Given the description of an element on the screen output the (x, y) to click on. 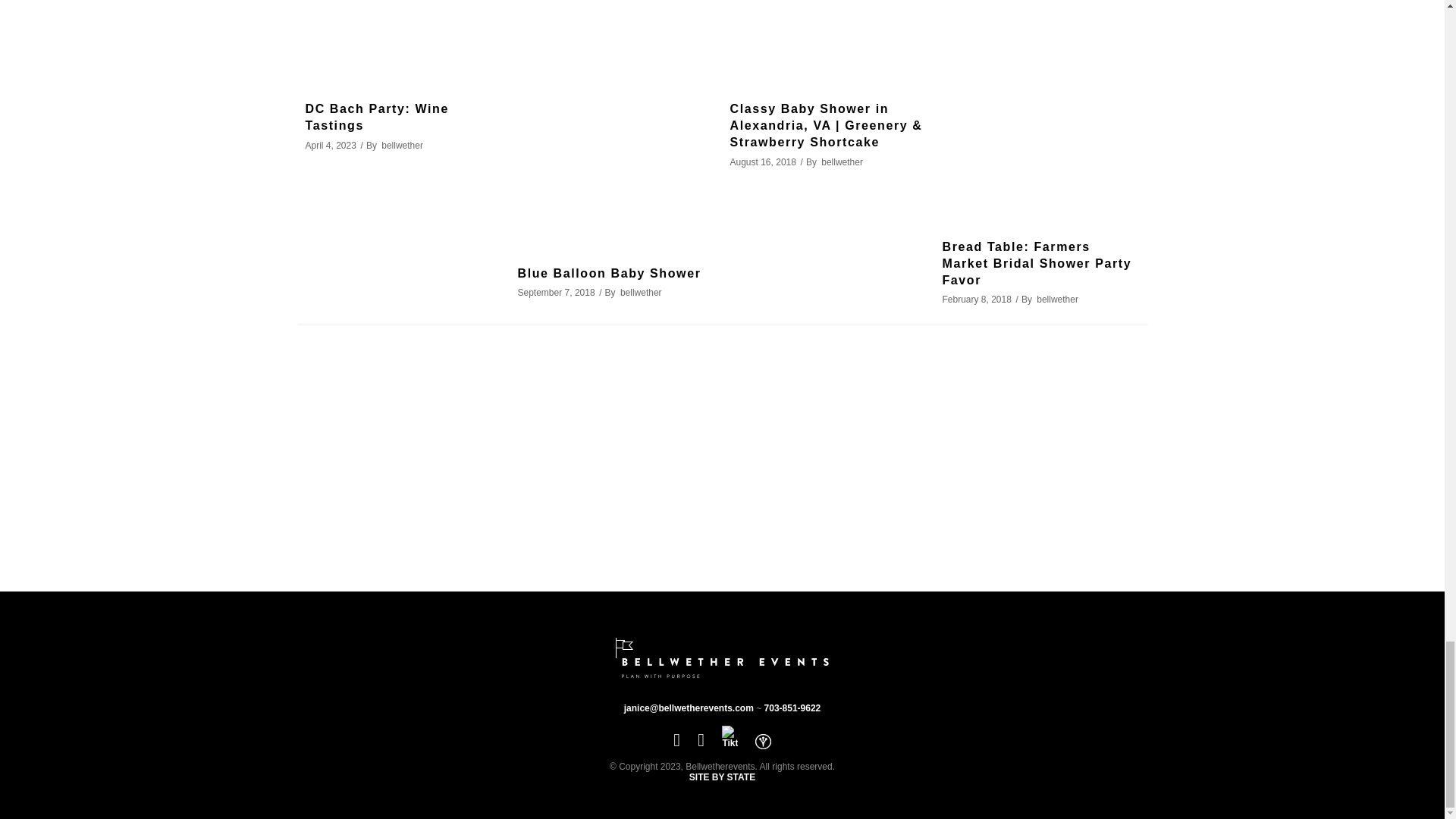
bellwether (402, 145)
Wedding Wire (763, 739)
Bread Table: Farmers Market Bridal Shower Party Favor (1036, 263)
April 4, 2023 (329, 145)
DC Bach Party: Wine Tastings (403, 41)
Bread Table: Farmers Market Bridal Shower Party Favor (1040, 110)
DC Bach Party: Wine Tastings (376, 116)
Blue Balloon Baby Shower (608, 273)
DC Bach Party: Wine Tastings (376, 116)
